Given the description of an element on the screen output the (x, y) to click on. 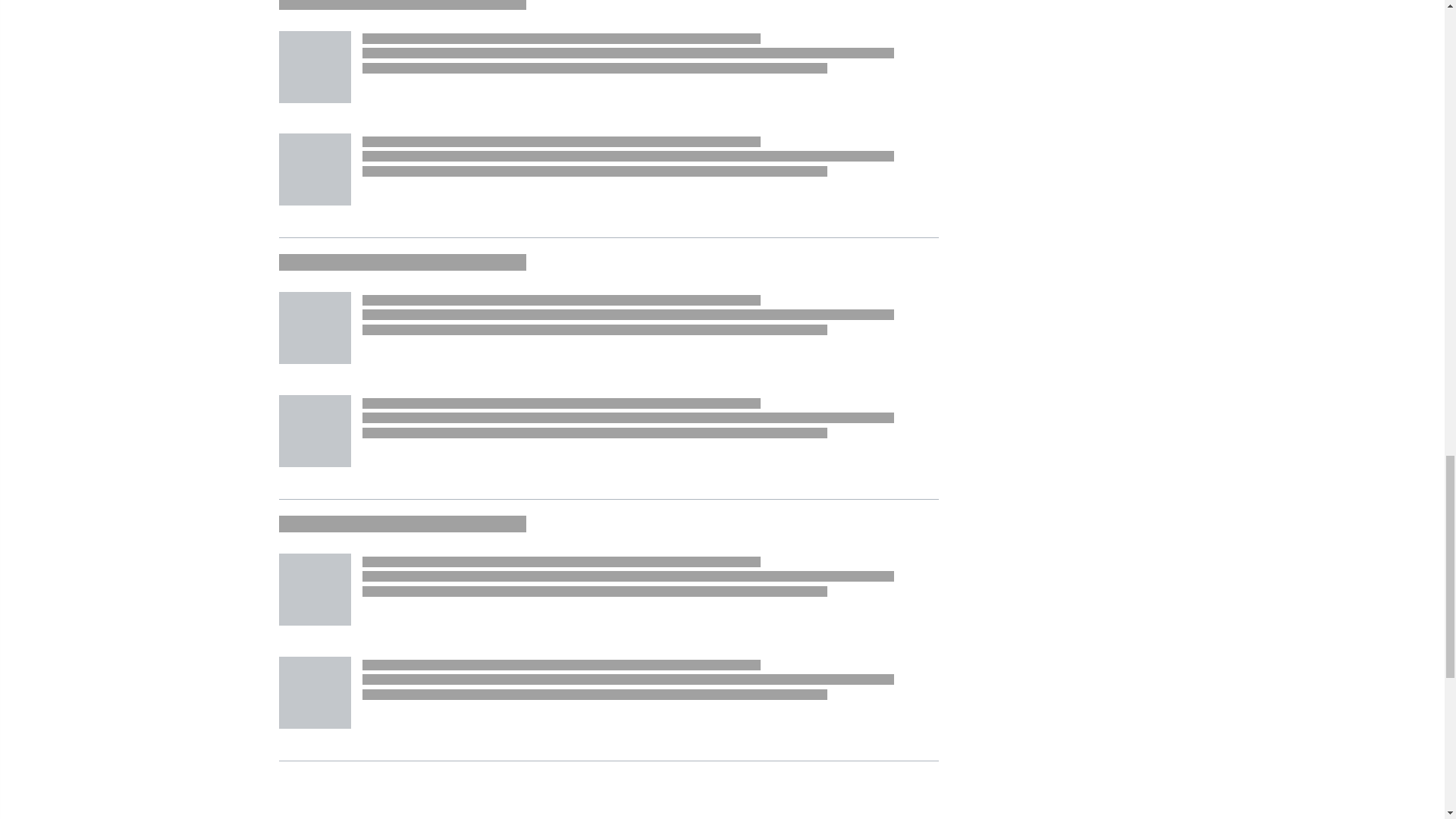
Placeholder (314, 589)
Placeholder (314, 169)
Placeholder (314, 692)
Placeholder (314, 66)
Placeholder (314, 430)
Placeholder (314, 327)
